Given the description of an element on the screen output the (x, y) to click on. 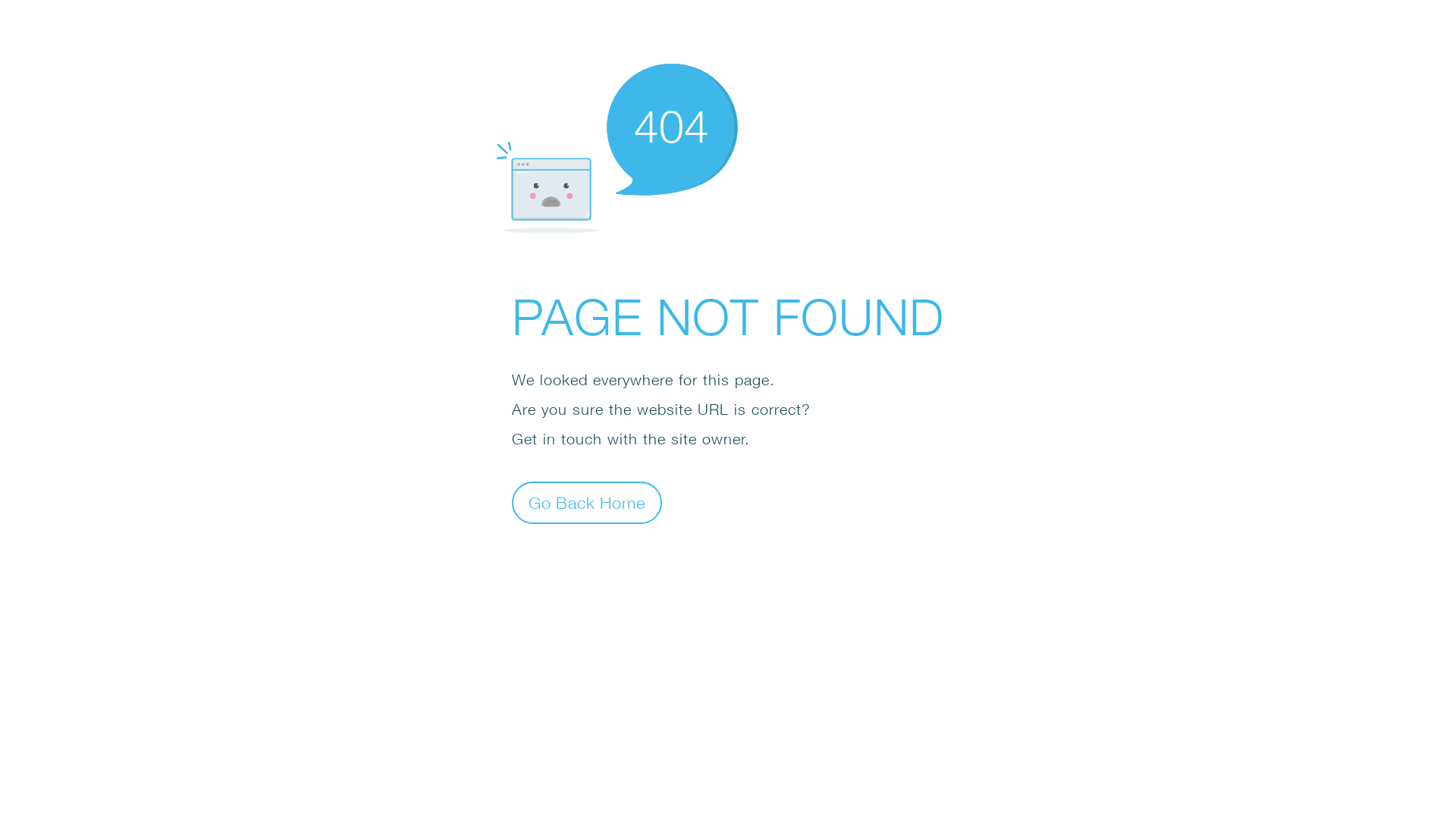
Go Back Home Element type: text (586, 502)
